Given the description of an element on the screen output the (x, y) to click on. 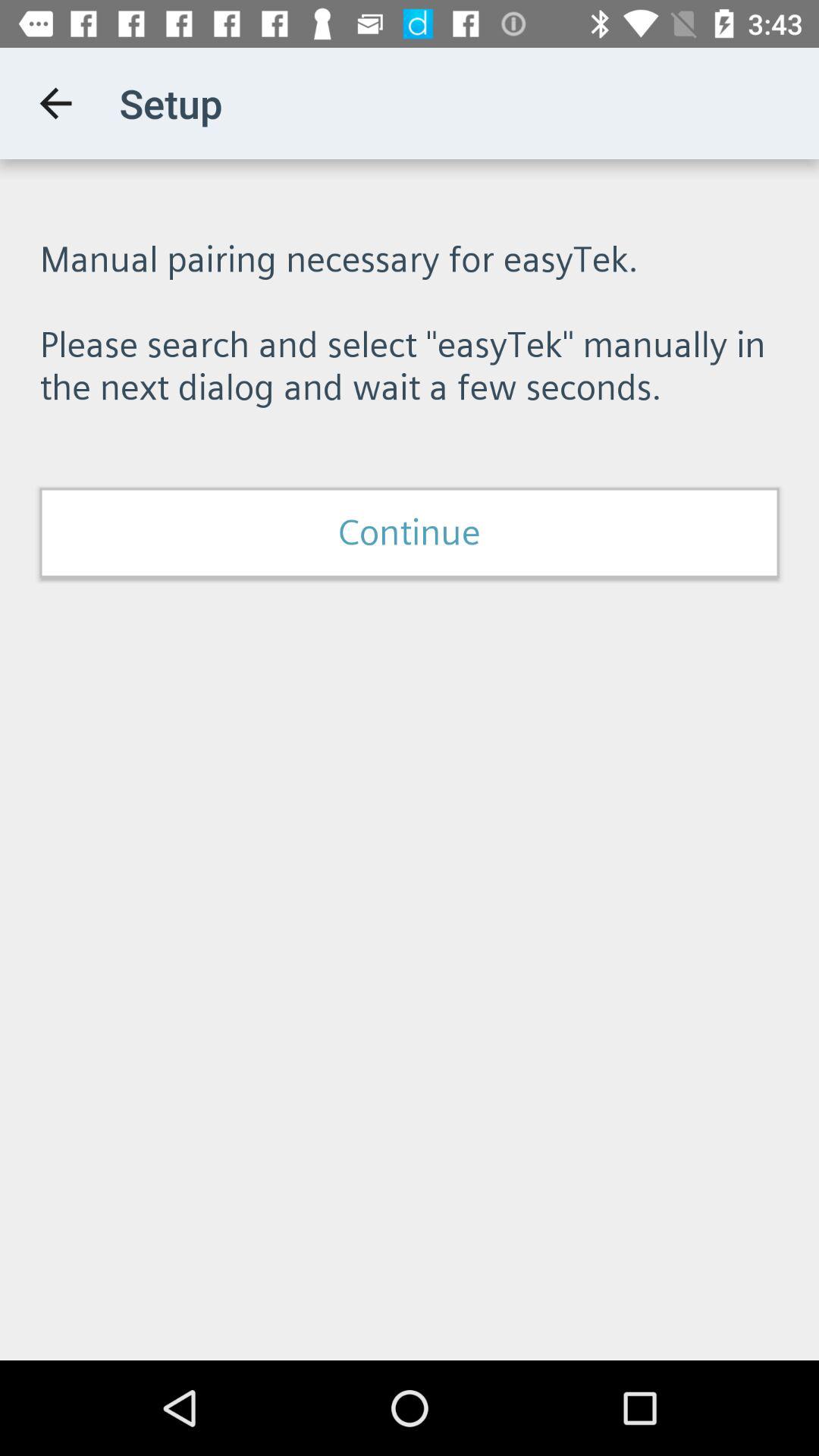
choose continue icon (409, 532)
